Given the description of an element on the screen output the (x, y) to click on. 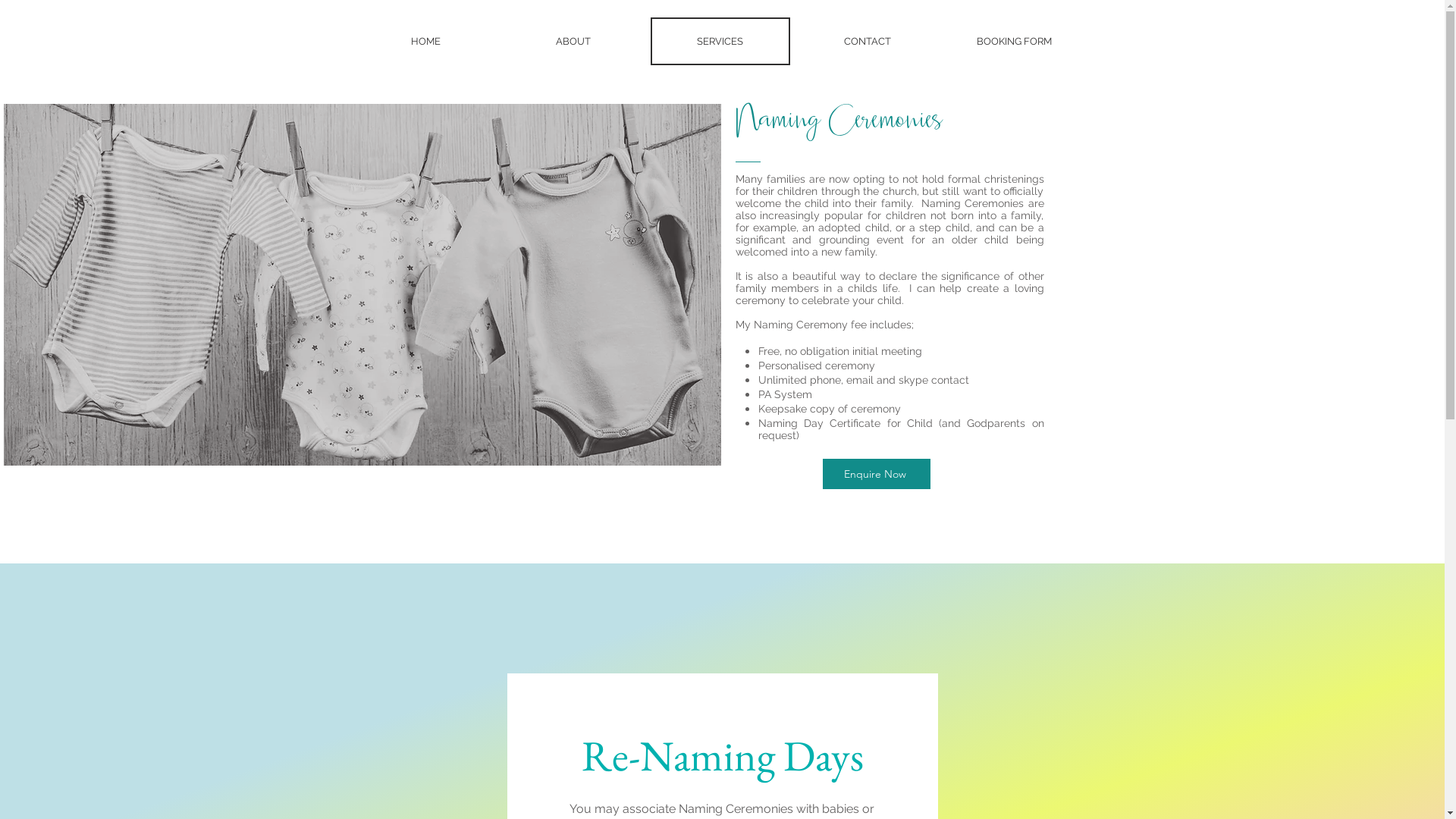
Enquire Now Element type: text (875, 473)
HOME Element type: text (424, 41)
SERVICES Element type: text (720, 41)
BOOKING FORM Element type: text (1014, 41)
ABOUT Element type: text (573, 41)
CONTACT Element type: text (867, 41)
